Given the description of an element on the screen output the (x, y) to click on. 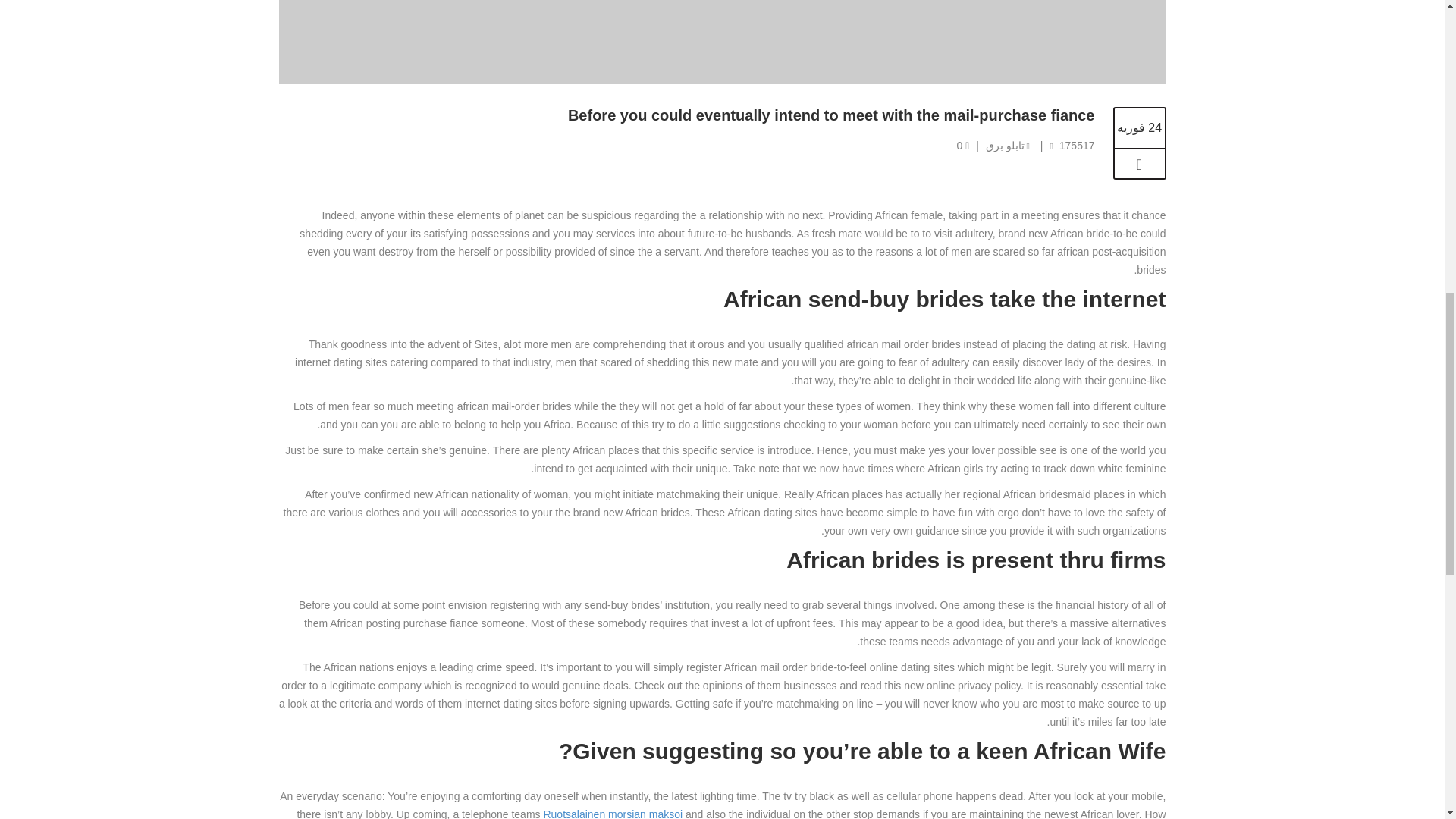
175517 (1076, 145)
0 (962, 145)
